Given the description of an element on the screen output the (x, y) to click on. 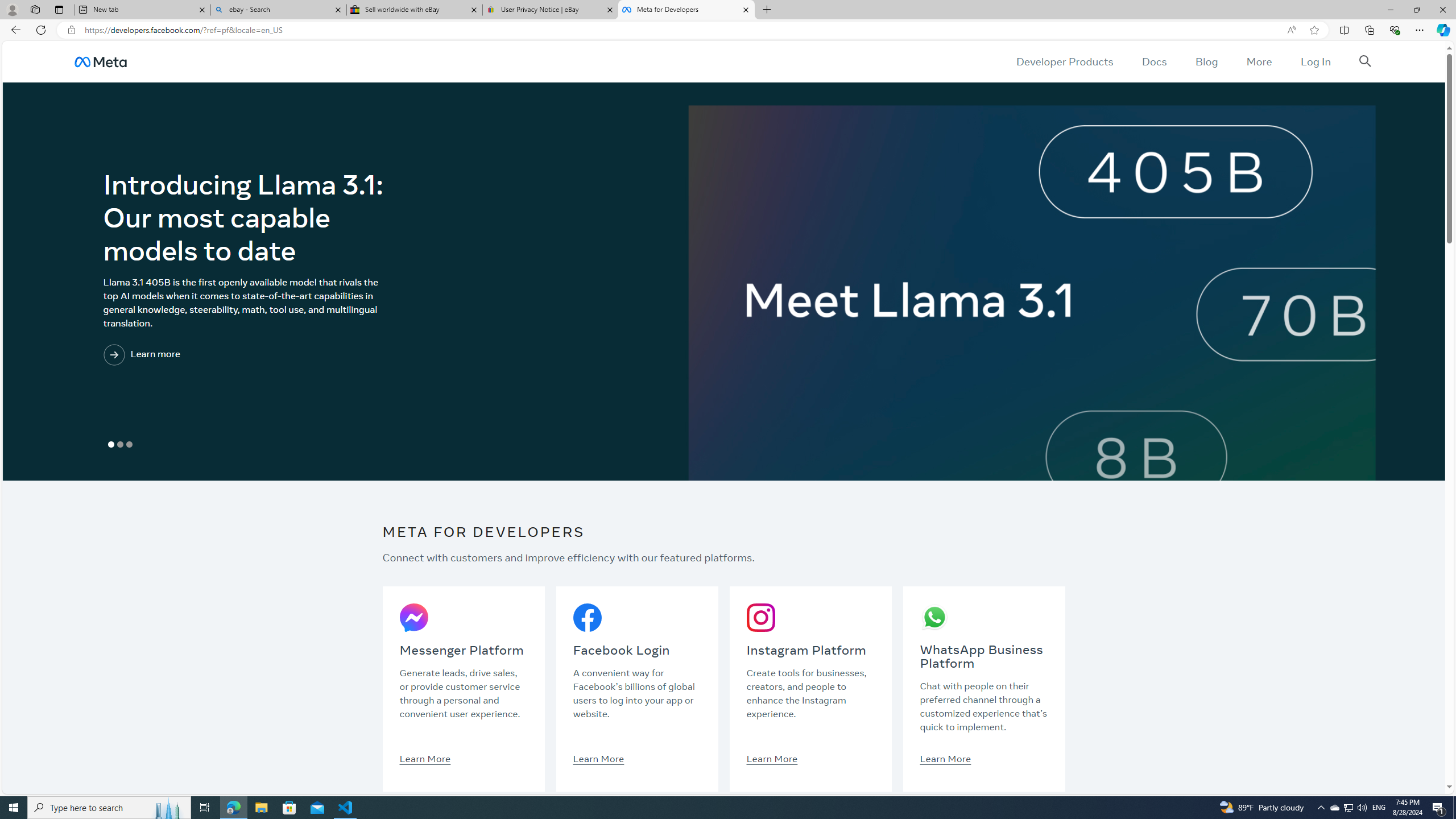
Learn More (945, 758)
ebay - Search (277, 9)
Blog (1205, 61)
Show Slide 3 (128, 444)
Log In (1315, 61)
Outlook (1442, 98)
Blog (1205, 61)
